Given the description of an element on the screen output the (x, y) to click on. 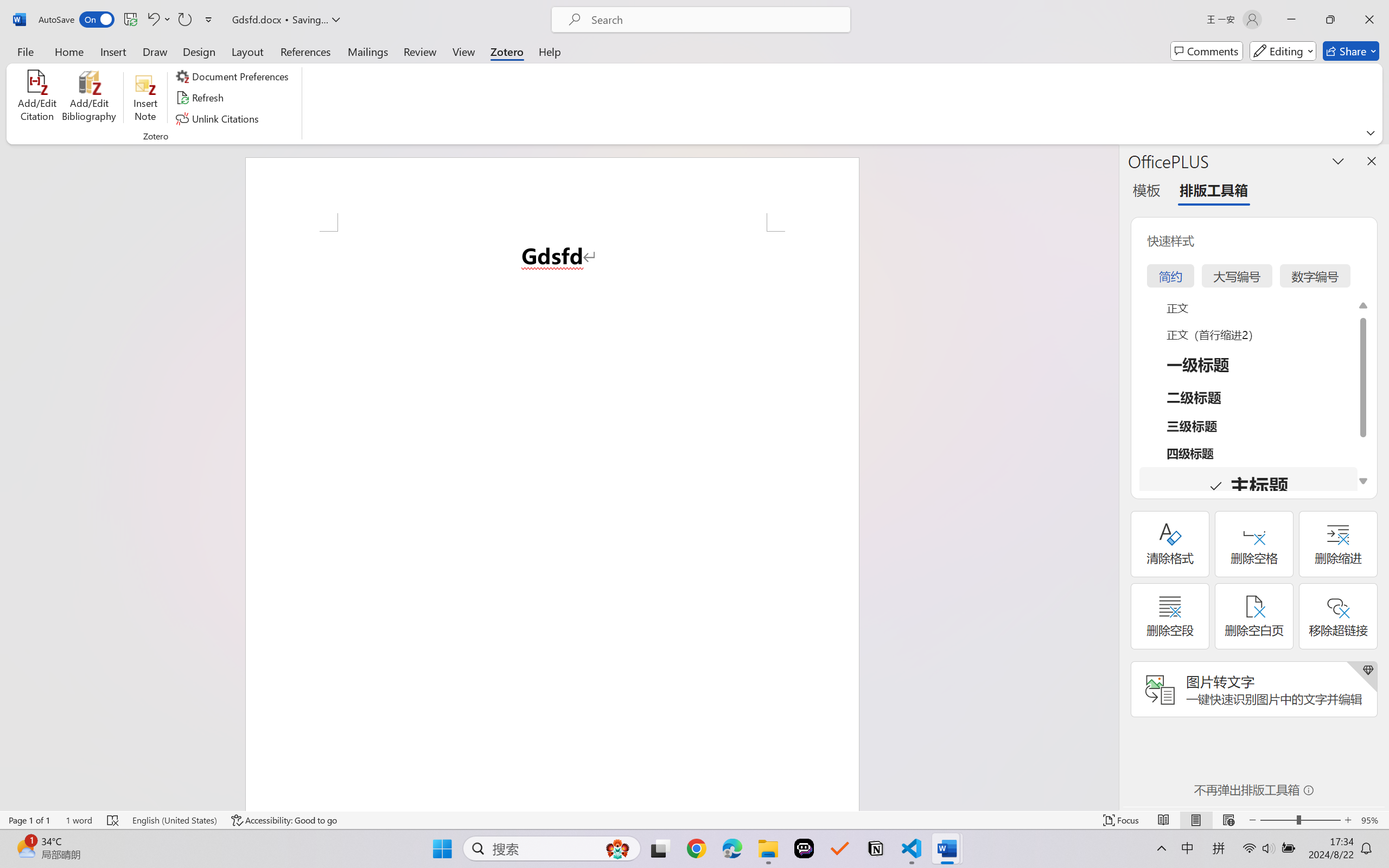
Spelling and Grammar Check Errors (113, 819)
Undo <ApplyStyleToDoc>b__0 (158, 19)
